Given the description of an element on the screen output the (x, y) to click on. 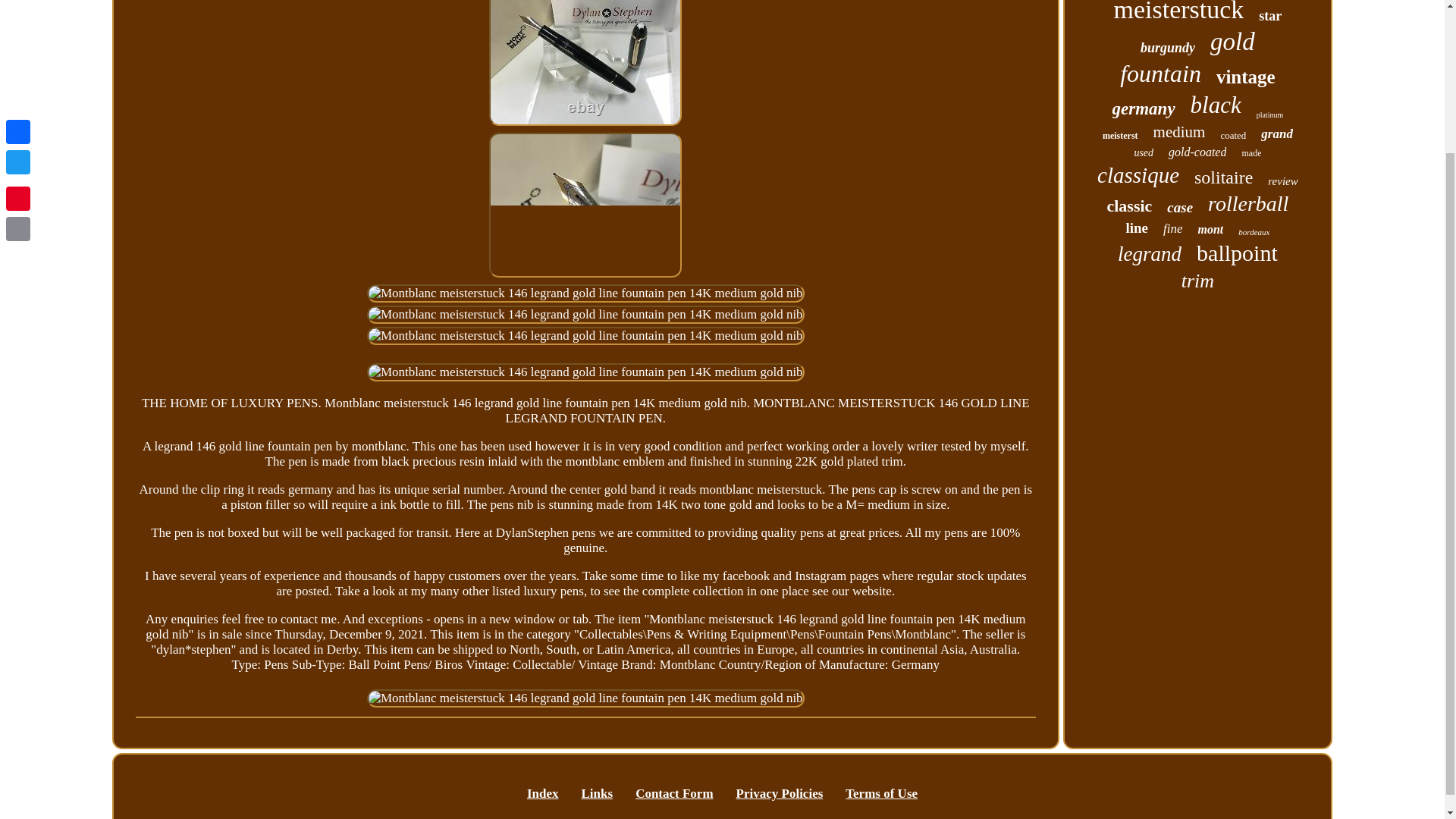
star (1270, 16)
grand (1276, 133)
Pinterest (17, 16)
germany (1143, 108)
rollerball (1248, 203)
vintage (1245, 76)
medium (1179, 131)
solitaire (1222, 177)
meisterstuck (1178, 12)
meisterst (1120, 135)
case (1179, 207)
coated (1233, 135)
